Given the description of an element on the screen output the (x, y) to click on. 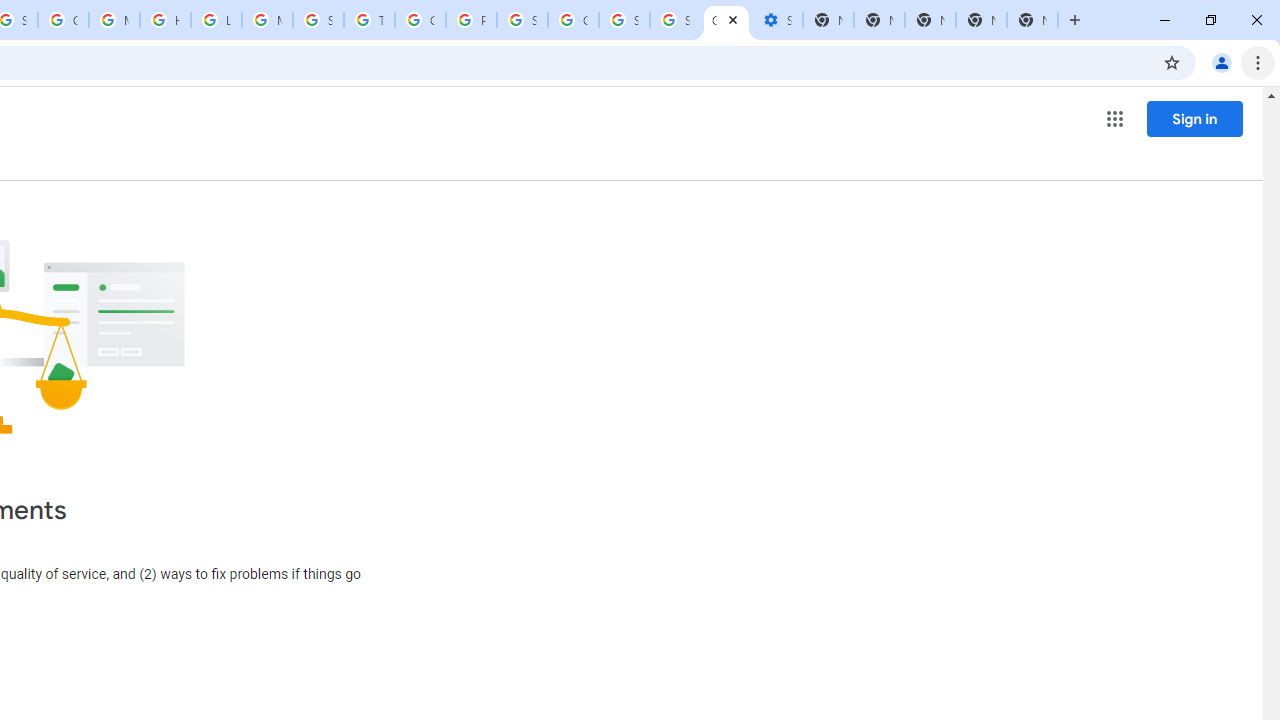
Google Cybersecurity Innovations - Google Safety Center (573, 20)
Google Ads - Sign in (420, 20)
Trusted Information and Content - Google Safety Center (369, 20)
Settings - Performance (776, 20)
